Given the description of an element on the screen output the (x, y) to click on. 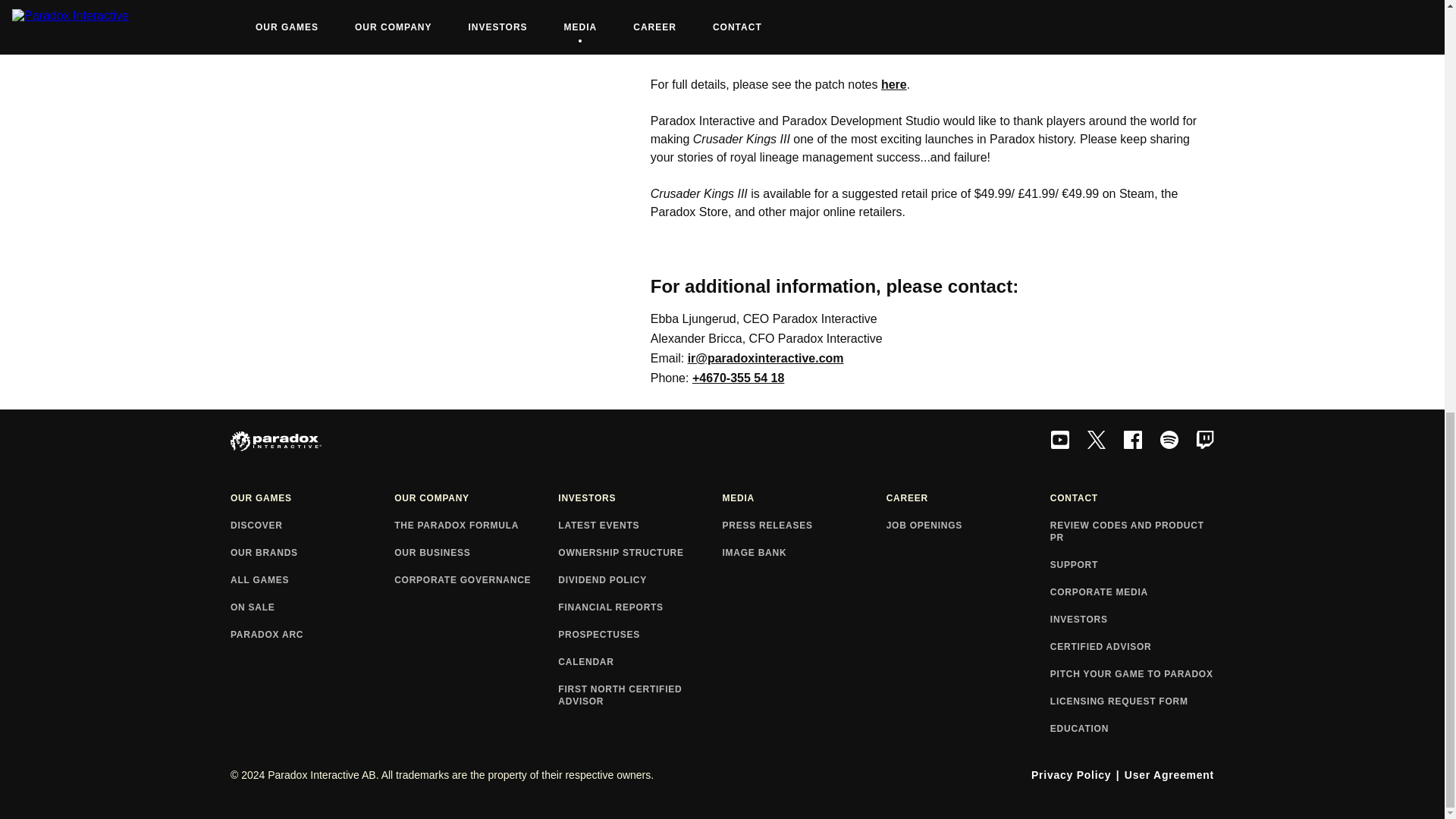
CORPORATE GOVERNANCE (475, 580)
OUR BRANDS (312, 553)
CALENDAR (639, 662)
Paradox on Facebook (1133, 441)
ALL GAMES (312, 580)
DIVIDEND POLICY (639, 580)
Paradox on Spotify (1169, 441)
LATEST EVENTS (639, 525)
Paradox on Youtube (1060, 441)
PROSPECTUSES (639, 635)
